Given the description of an element on the screen output the (x, y) to click on. 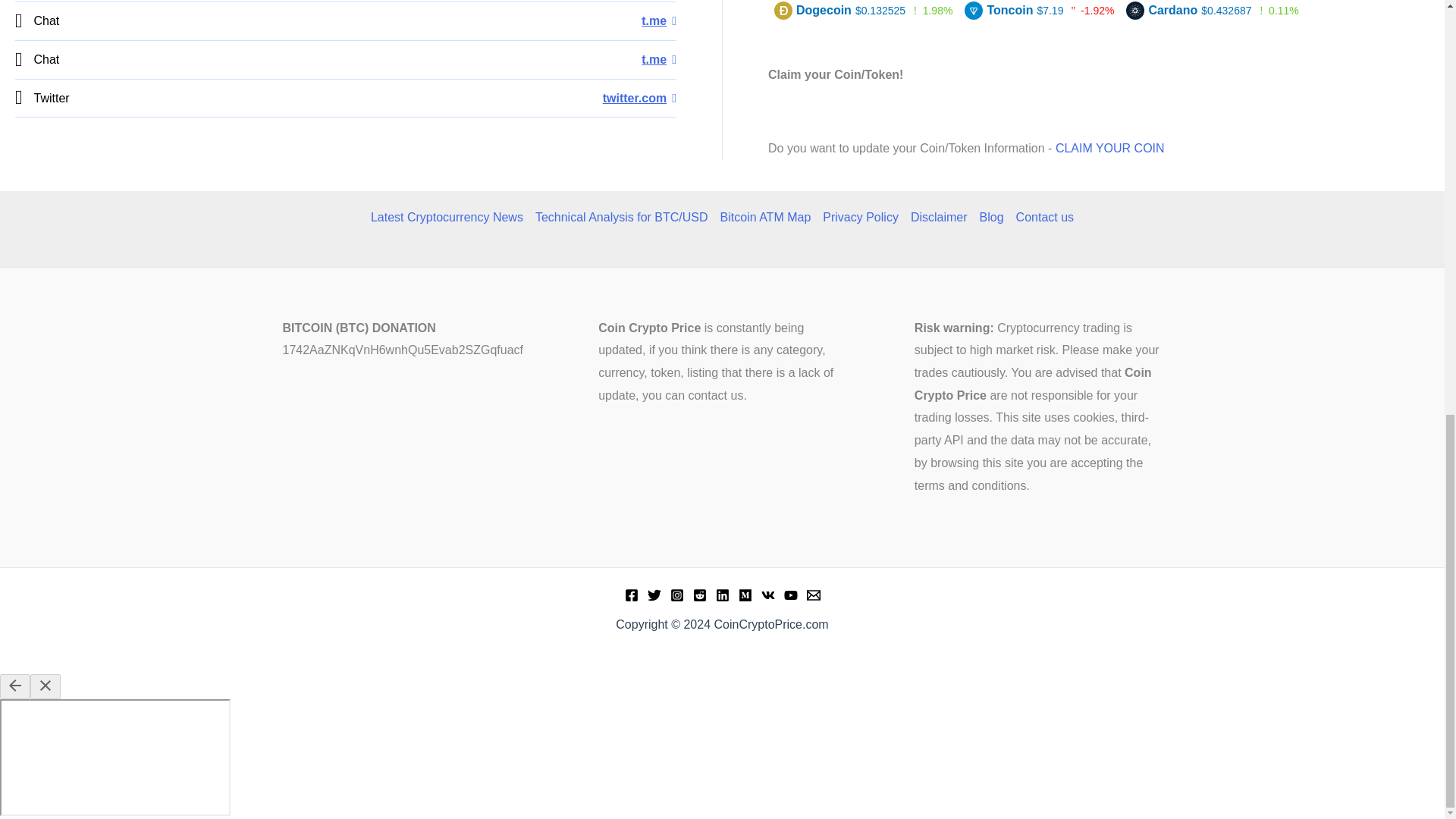
Chat (659, 59)
Chat (659, 20)
Twitter (639, 97)
